Given the description of an element on the screen output the (x, y) to click on. 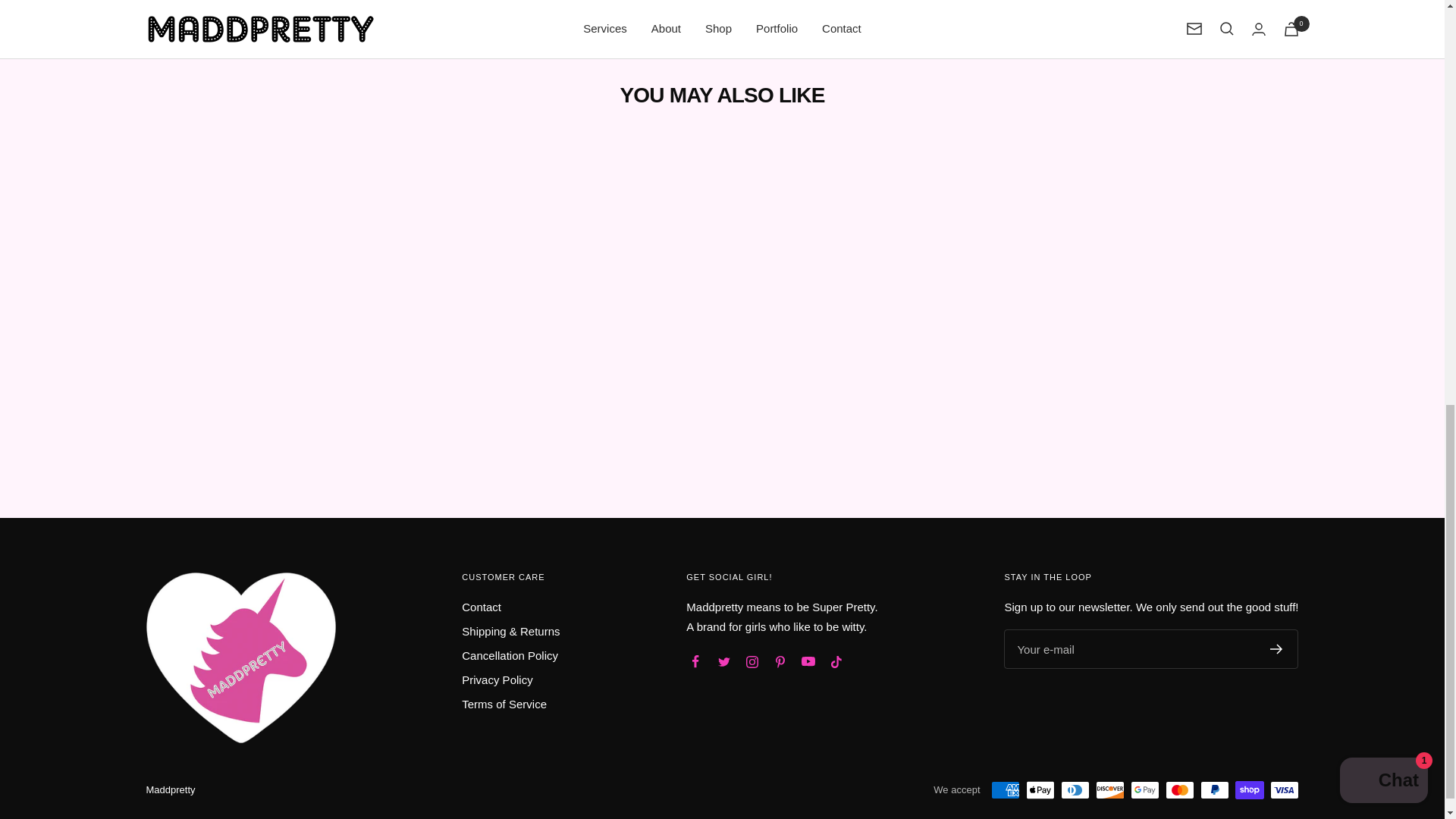
Register (1275, 648)
